Given the description of an element on the screen output the (x, y) to click on. 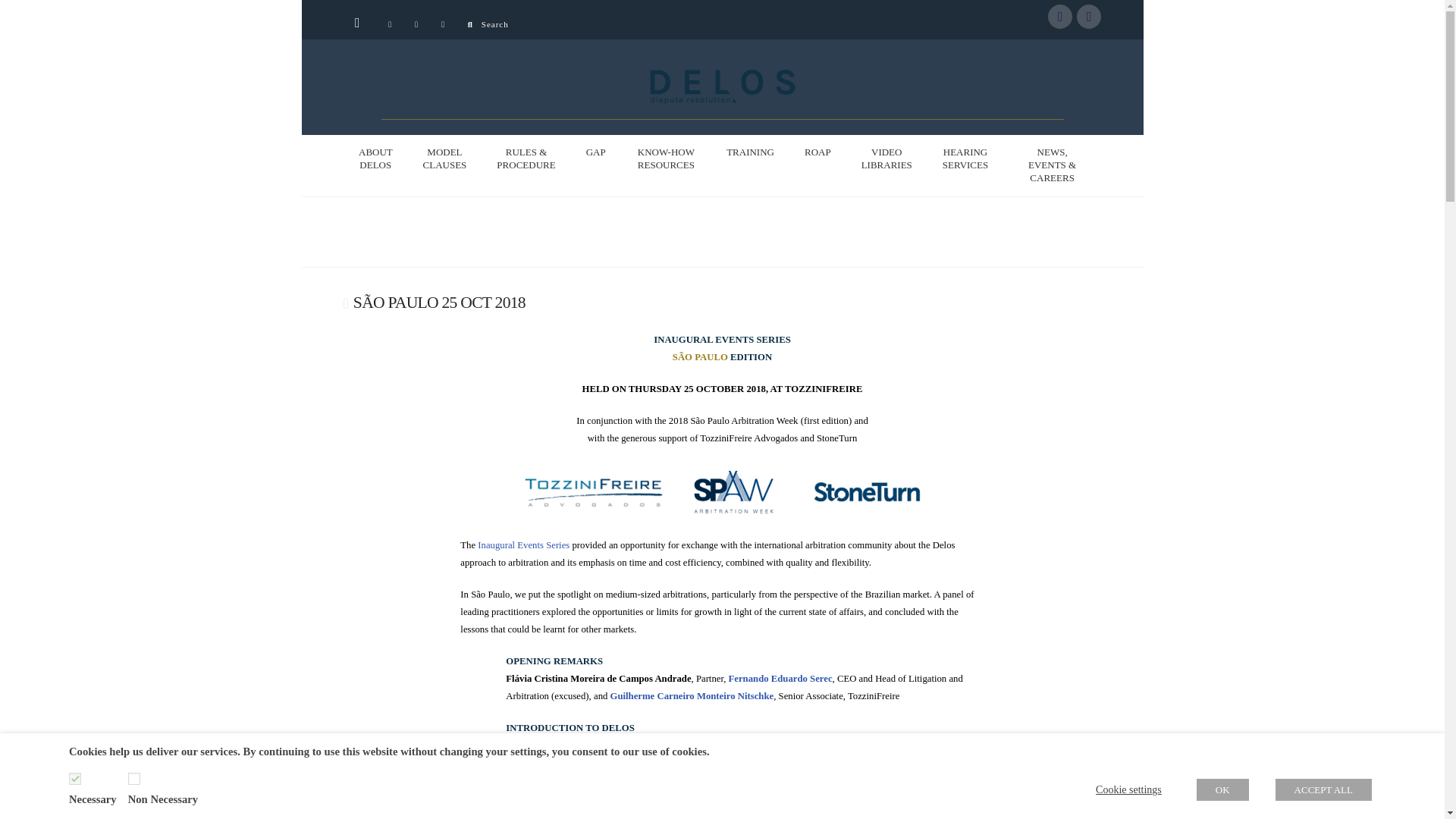
MODEL CLAUSES (444, 159)
Search (487, 23)
Facebook (1059, 16)
on (74, 778)
on (133, 778)
LinkedIn (1088, 16)
ABOUT DELOS (375, 159)
